Given the description of an element on the screen output the (x, y) to click on. 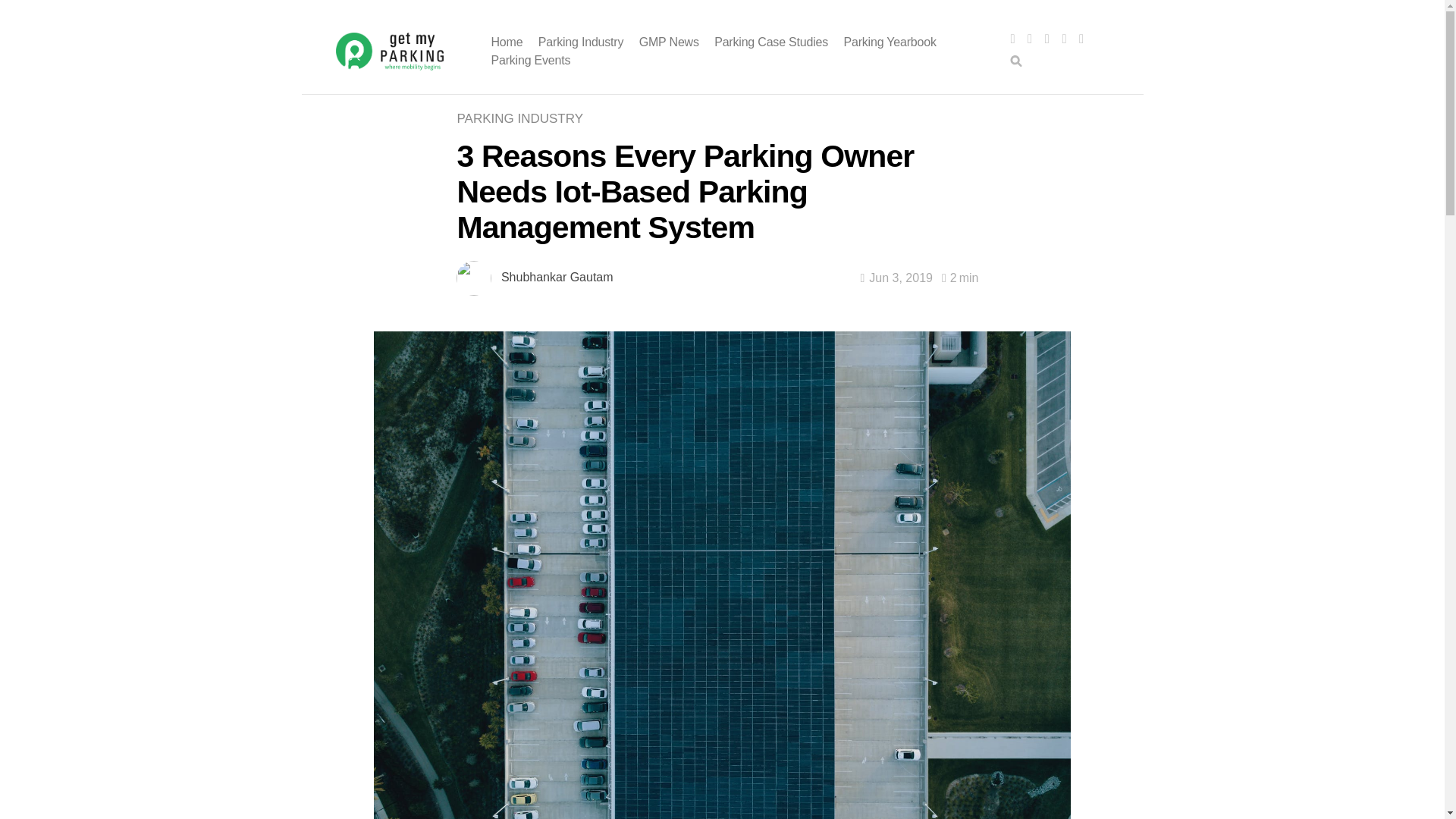
Home (507, 42)
Shubhankar Gautam (556, 277)
Posts by Shubhankar Gautam (556, 277)
GMP News (668, 42)
Parking Yearbook (889, 42)
PARKING INDUSTRY (524, 118)
Parking Industry (524, 118)
Parking Industry (580, 42)
Parking Case Studies (771, 42)
Parking Events (531, 60)
